Given the description of an element on the screen output the (x, y) to click on. 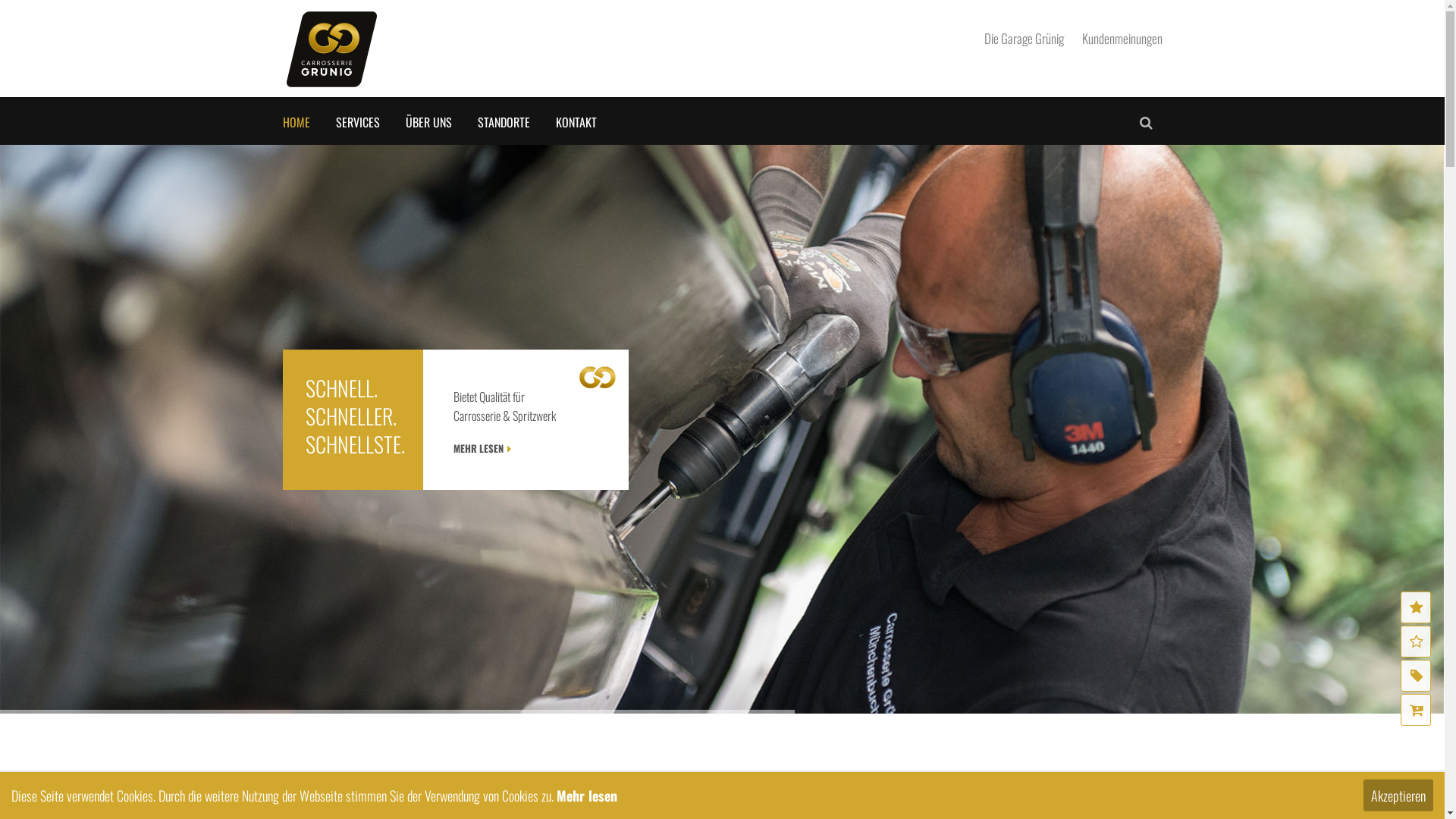
KONTAKT Element type: text (575, 121)
HOME Element type: text (295, 121)
SERVICES Element type: text (357, 121)
Kundenmeinungen Element type: text (1121, 37)
MEHR LESEN Element type: text (484, 448)
Autoscout 24 Element type: hover (1415, 709)
STANDORTE Element type: text (503, 121)
Mehr lesen Element type: text (586, 795)
Services Element type: hover (1415, 675)
